Given the description of an element on the screen output the (x, y) to click on. 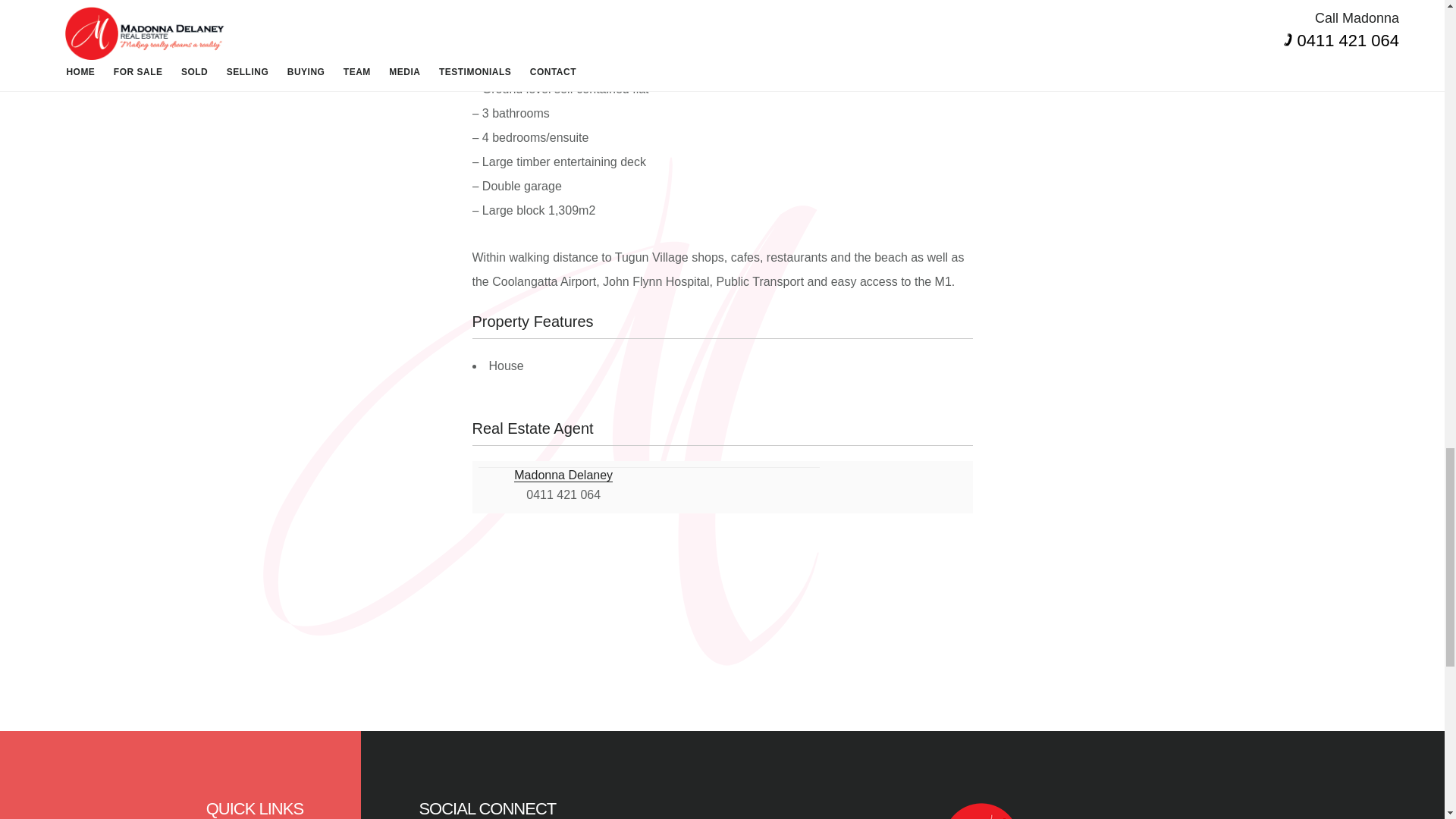
Madonna Delaney (562, 475)
